Given the description of an element on the screen output the (x, y) to click on. 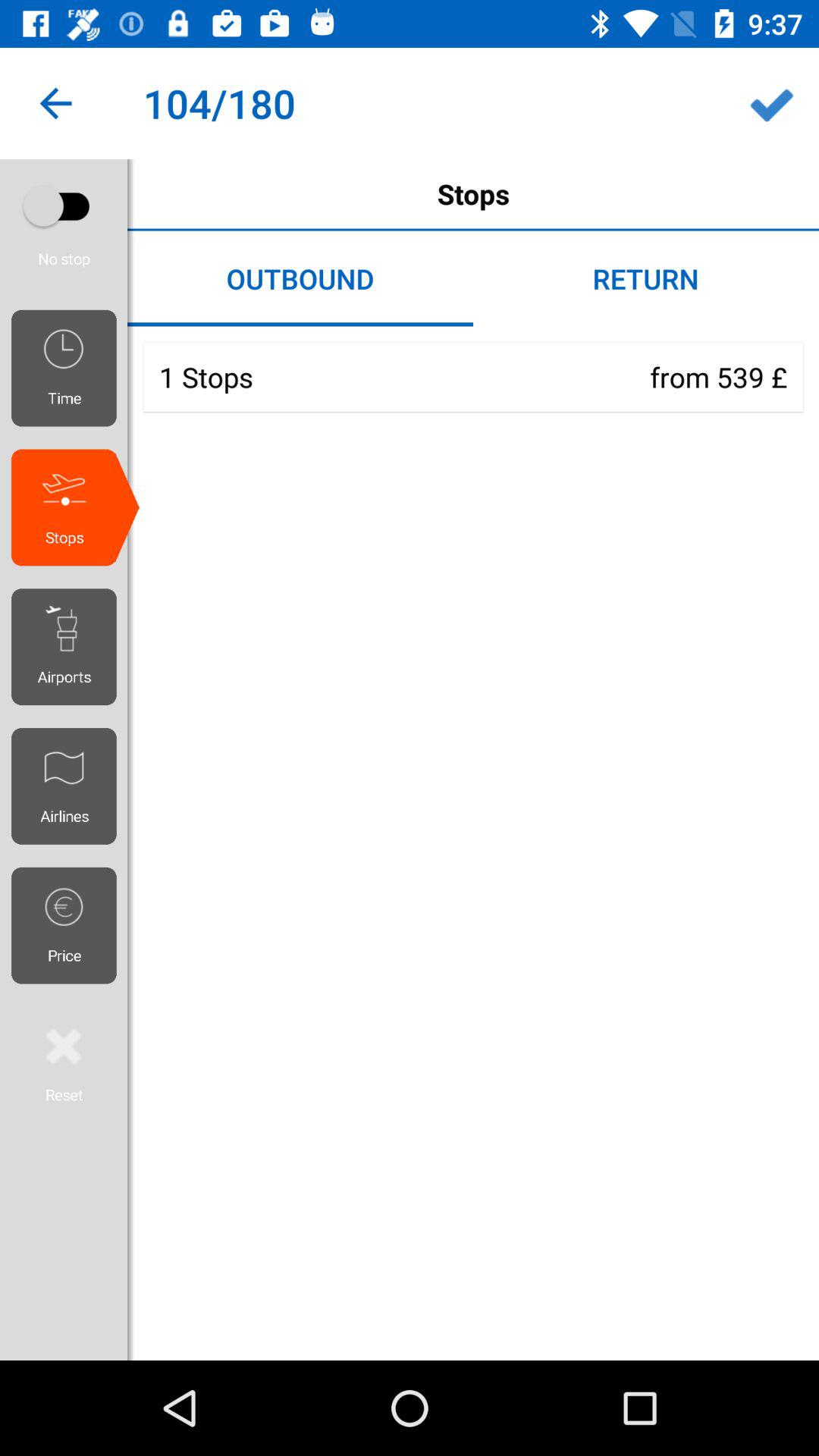
this button cancels the current travel search (63, 1062)
